Given the description of an element on the screen output the (x, y) to click on. 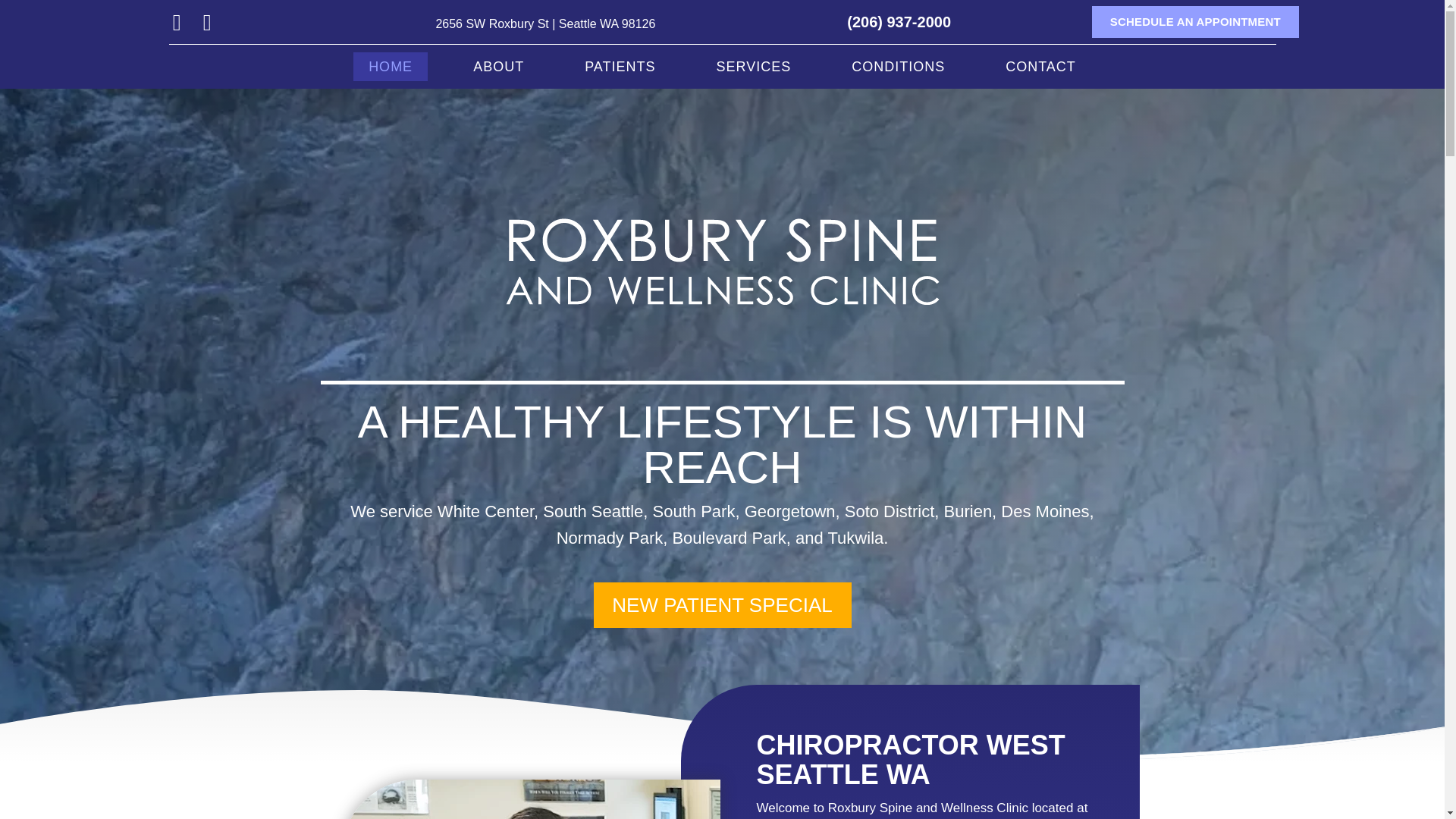
SERVICES (753, 66)
ABOUT (498, 66)
HOME (390, 66)
PATIENTS (619, 66)
SCHEDULE AN APPOINTMENT (1195, 21)
Chiropractor West Seattle WA Lawrence Clayman (530, 799)
Click Here (721, 605)
CONDITIONS (897, 66)
